Given the description of an element on the screen output the (x, y) to click on. 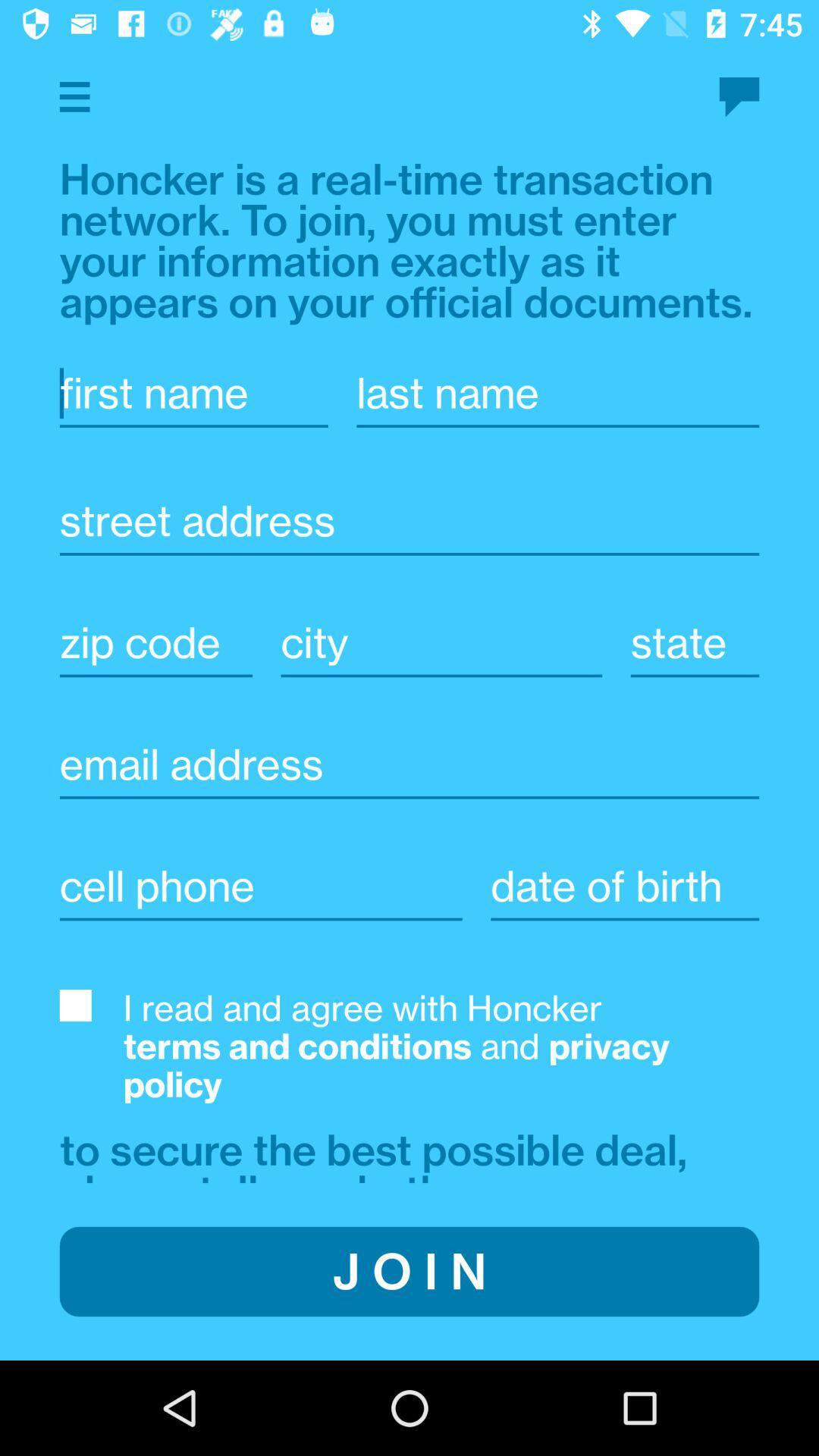
type last name (557, 392)
